Given the description of an element on the screen output the (x, y) to click on. 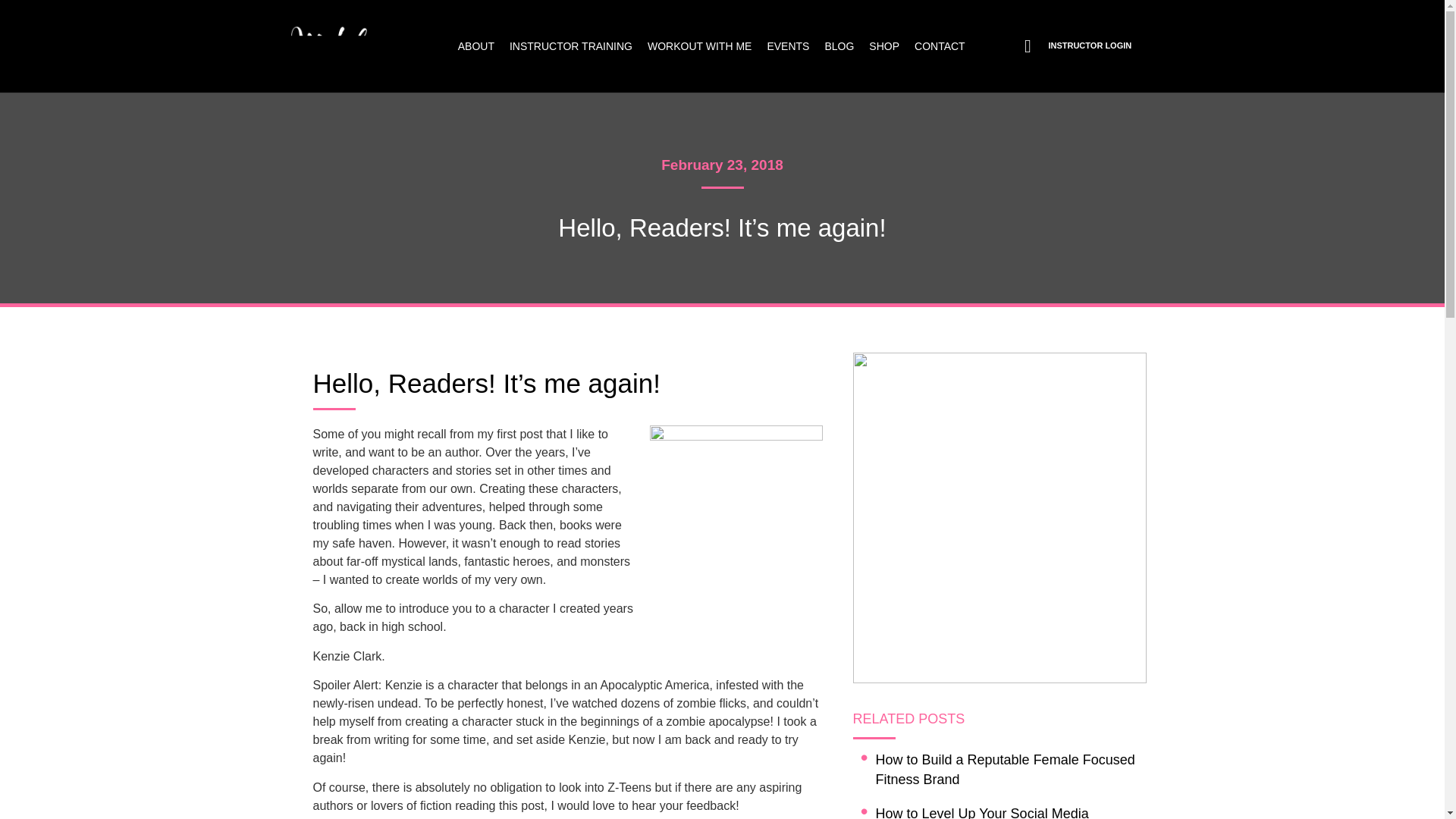
SHOP (884, 46)
How to Build a Reputable Female Focused Fitness Brand (1010, 769)
EVENTS (787, 46)
How to Level Up Your Social Media Graphics (1010, 811)
INSTRUCTOR TRAINING (571, 46)
How to Level Up Your Social Media Graphics (1010, 811)
WORKOUT WITH ME (699, 46)
ABOUT (475, 46)
How to Build a Reputable Female Focused Fitness Brand (1010, 769)
CONTACT (939, 46)
BLOG (838, 46)
INSTRUCTOR LOGIN (1089, 44)
